Given the description of an element on the screen output the (x, y) to click on. 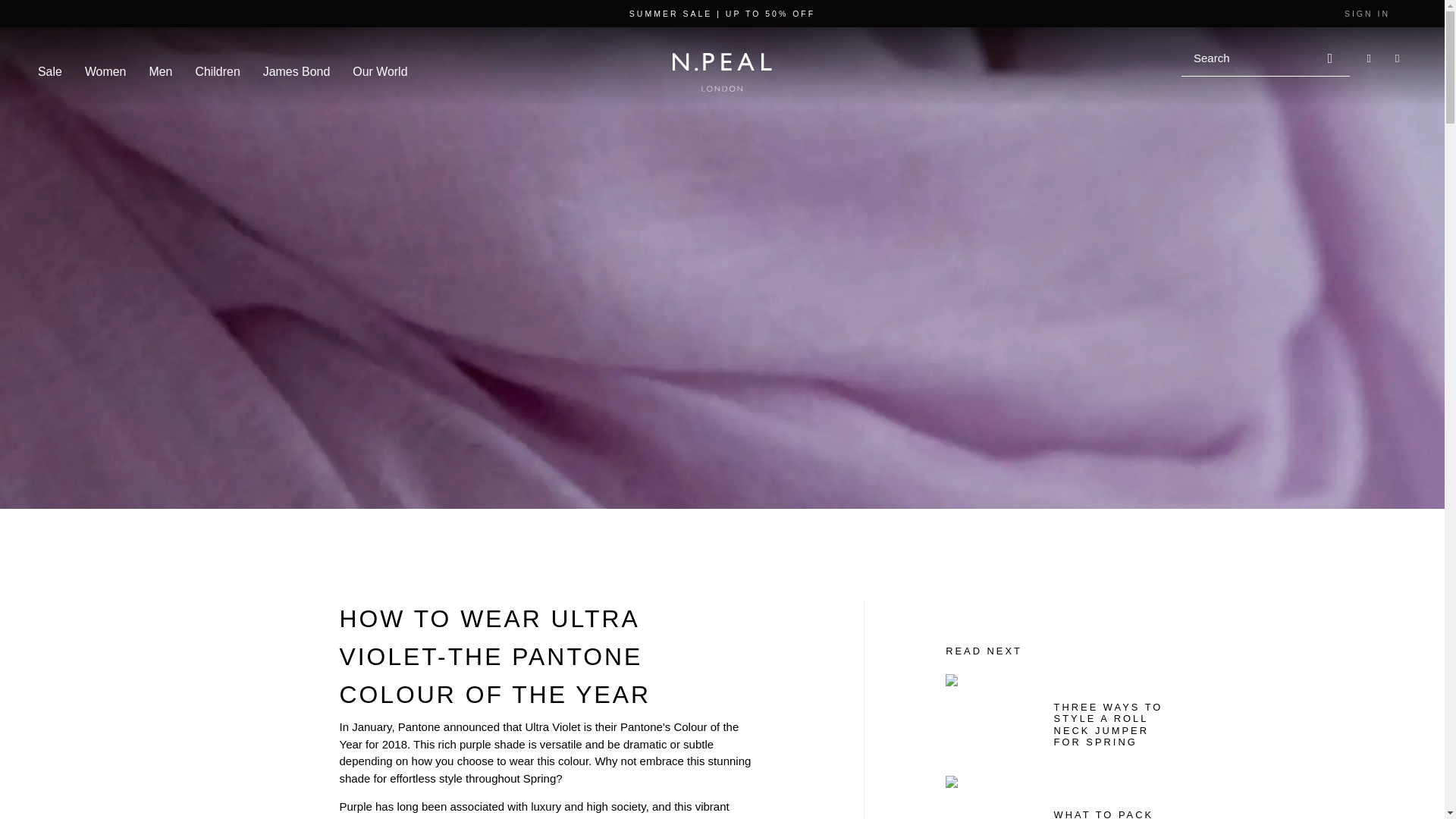
CASHMERE SINCE 1936 (722, 96)
SIGN IN (1366, 13)
Women (105, 71)
Sale (49, 71)
